Given the description of an element on the screen output the (x, y) to click on. 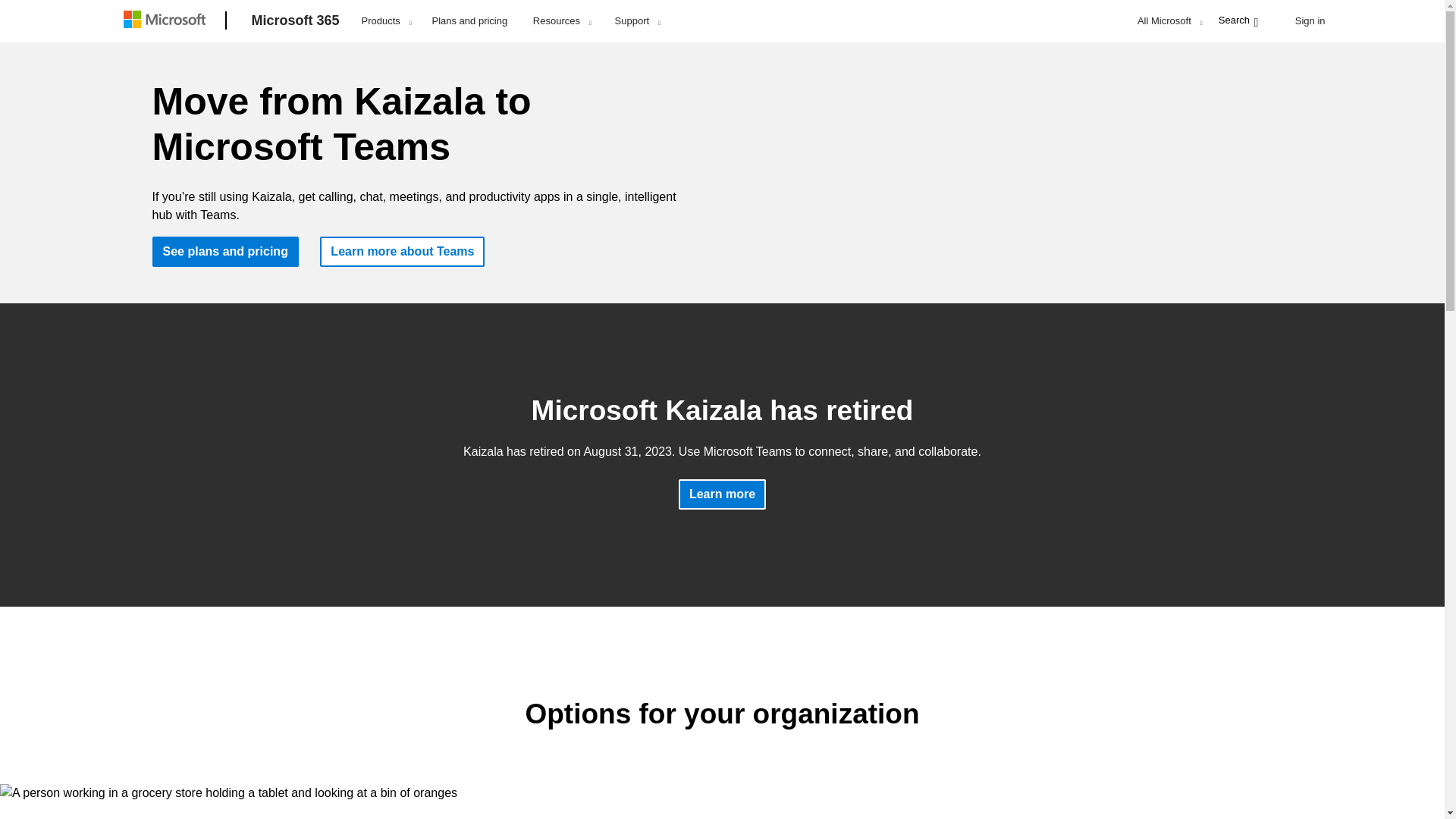
Products (386, 20)
Microsoft 365 (295, 20)
Microsoft (167, 20)
